Given the description of an element on the screen output the (x, y) to click on. 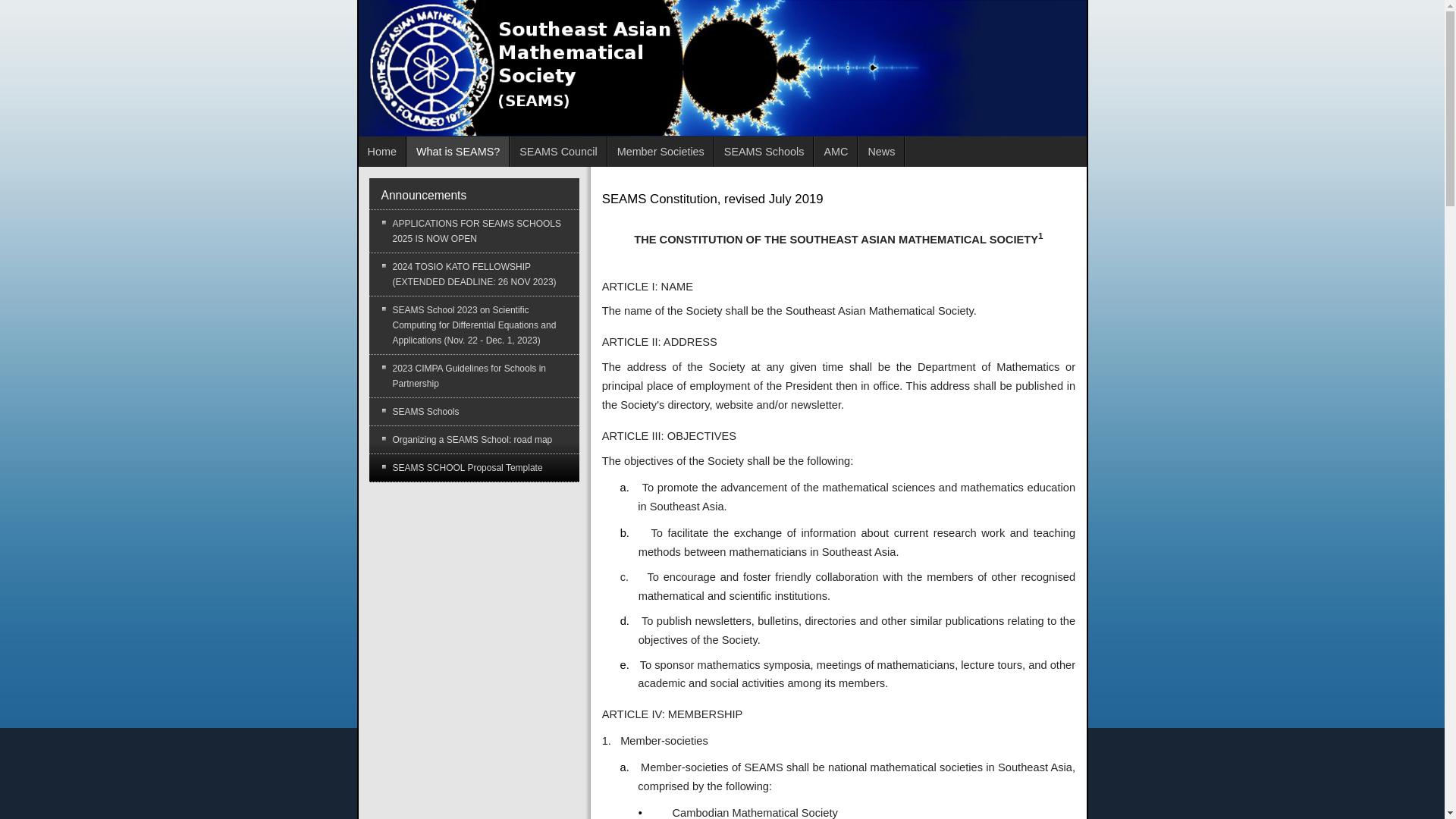
What is SEAMS? (458, 151)
Home (382, 151)
SEAMS SCHOOL Proposal Template (473, 467)
Organizing a SEAMS School: road map (473, 439)
SEAMS Schools (473, 411)
APPLICATIONS FOR SEAMS SCHOOLS 2025 IS NOW OPEN (473, 230)
SEAMS Council (559, 151)
AMC (835, 151)
SEAMS Schools (763, 151)
News (881, 151)
